Given the description of an element on the screen output the (x, y) to click on. 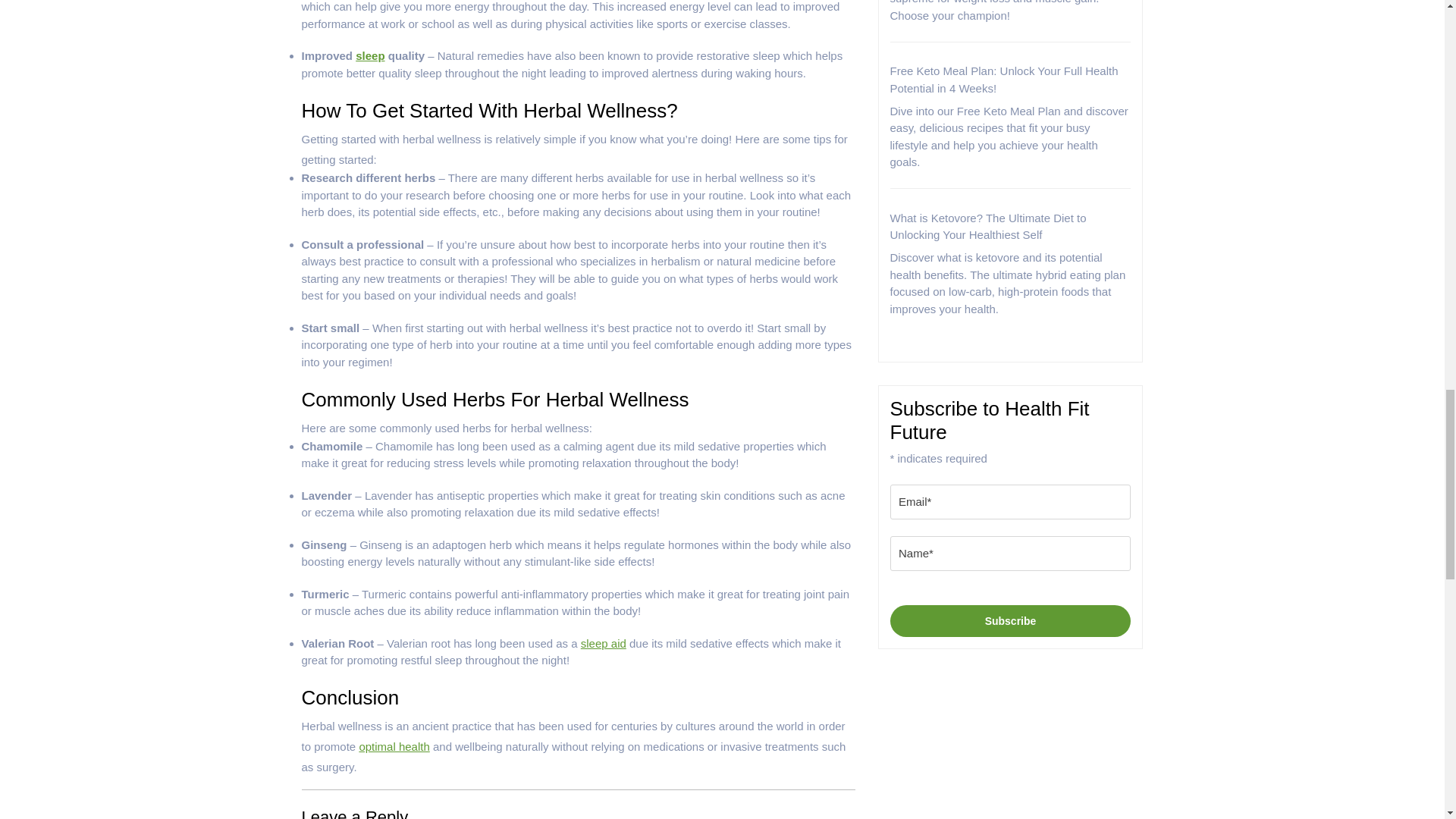
optimal health (393, 746)
sleep (369, 55)
sleep aid (603, 643)
Subscribe (1010, 621)
